Given the description of an element on the screen output the (x, y) to click on. 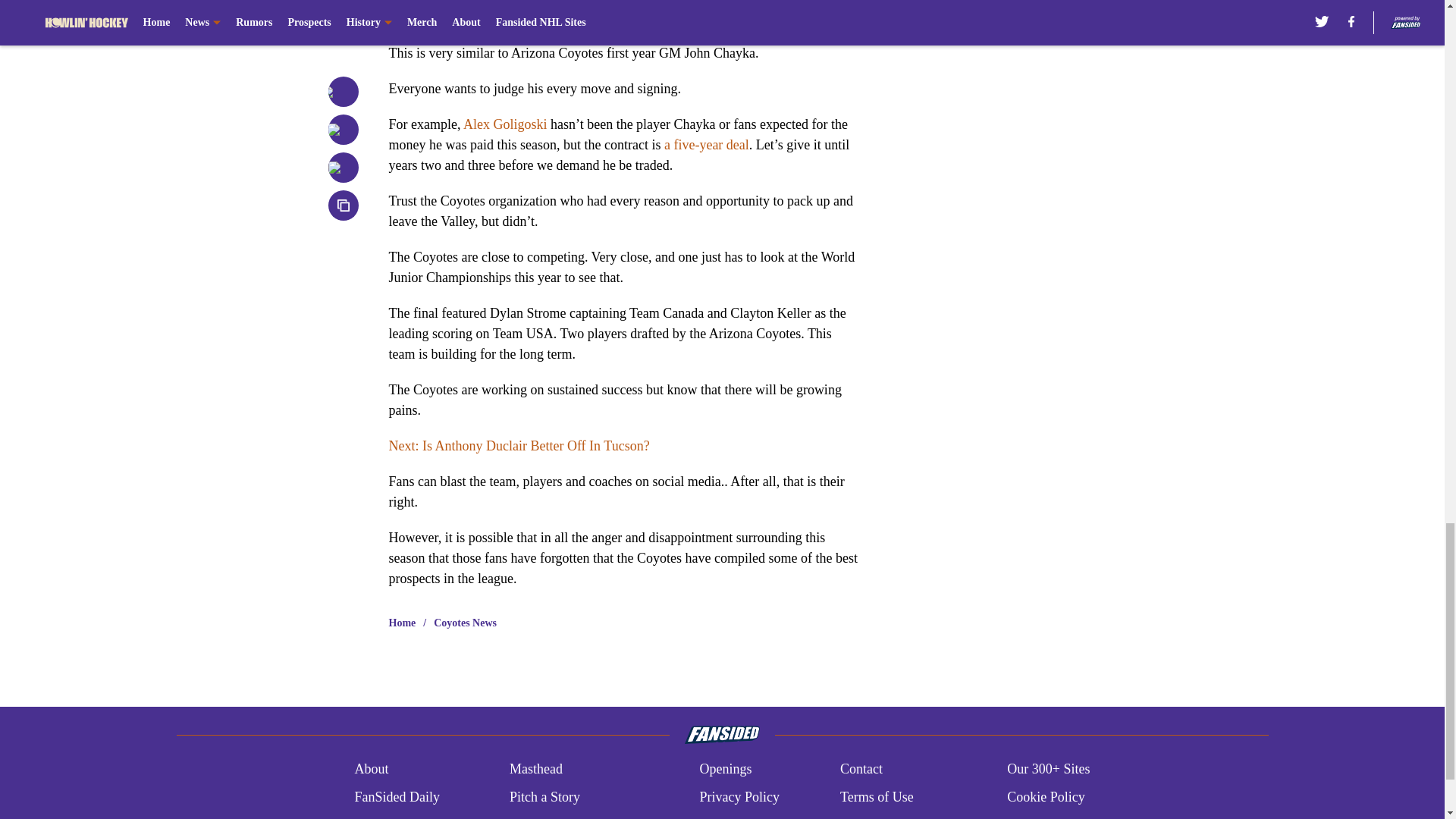
Legal Disclaimer (400, 816)
Accessibility Statement (574, 816)
Alex Goligoski (505, 124)
FanSided Daily (396, 797)
A-Z Index (726, 816)
About (370, 769)
Next: Is Anthony Duclair Better Off In Tucson? (518, 445)
Cookie Policy (1045, 797)
Home (401, 622)
Privacy Policy (738, 797)
Terms of Use (877, 797)
Contact (861, 769)
Openings (724, 769)
Coyotes News (464, 622)
Pitch a Story (544, 797)
